Given the description of an element on the screen output the (x, y) to click on. 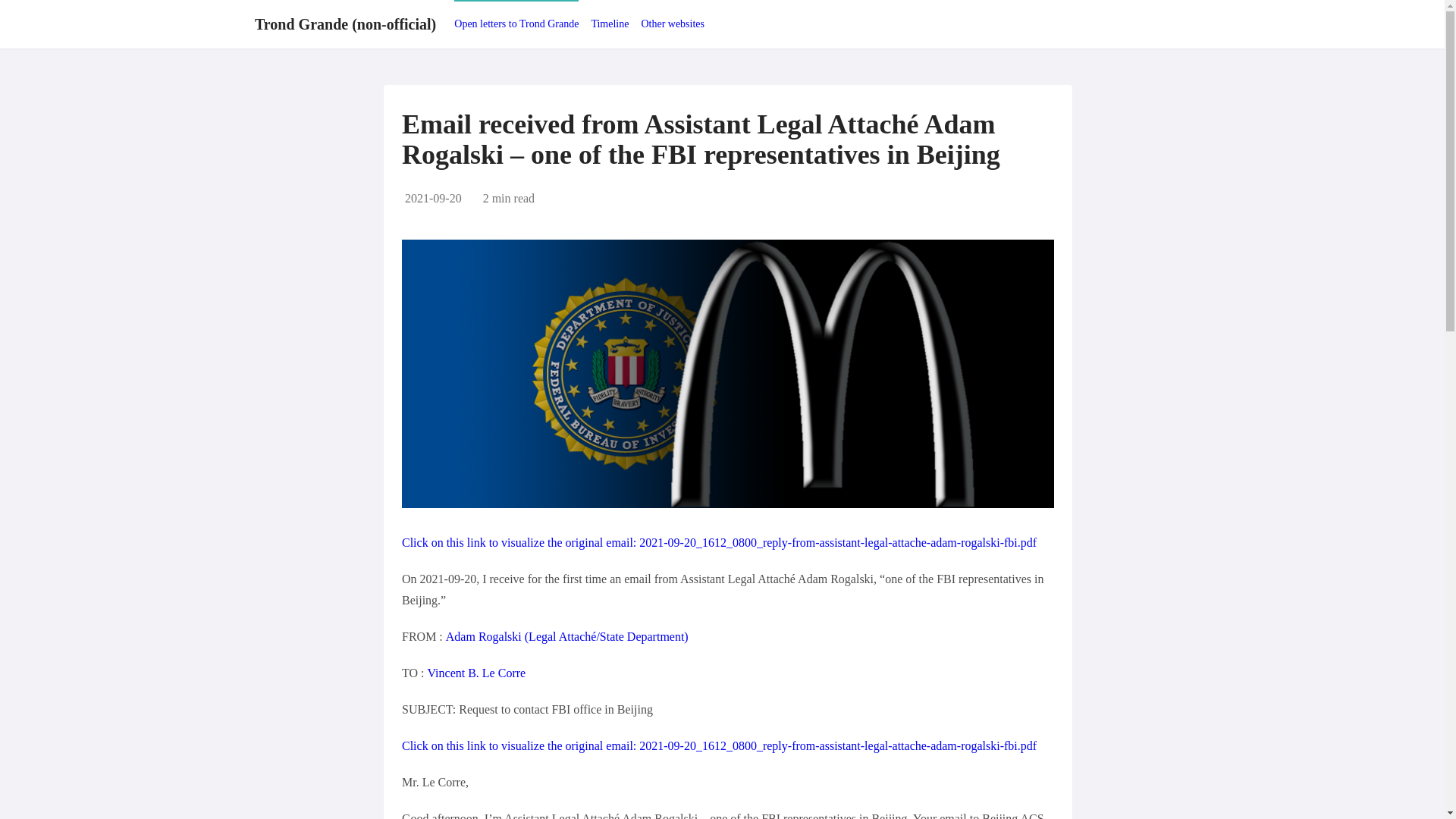
Open letters to Trond Grande (516, 22)
Other websites (672, 22)
Vincent B. Le Corre (475, 672)
